Given the description of an element on the screen output the (x, y) to click on. 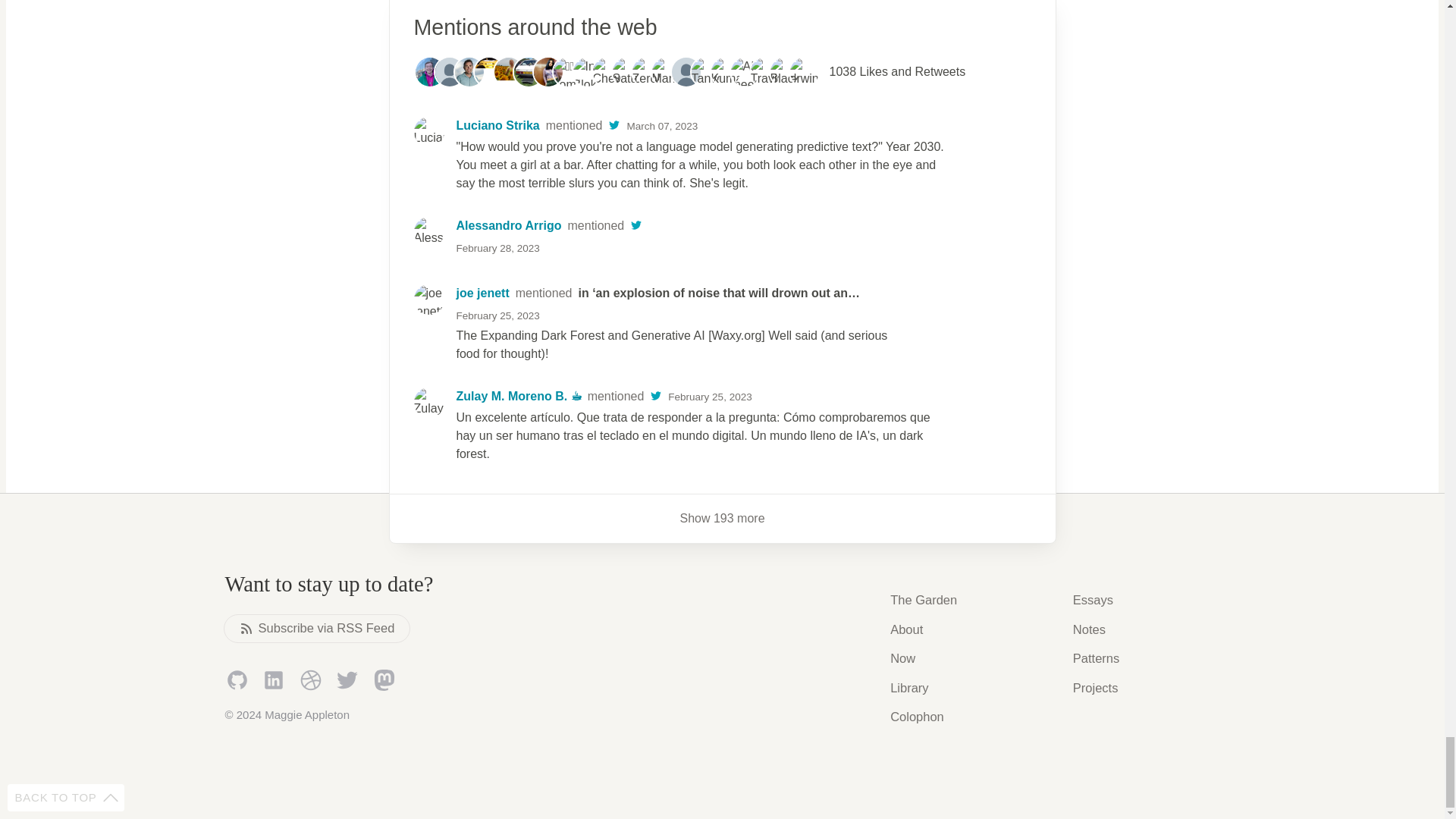
Library (908, 688)
Notes (1089, 629)
Show 193 more (722, 517)
Essays (1093, 599)
The Garden (922, 599)
About (906, 629)
Link to Maggie's Twitter (346, 680)
Subscribe via RSS Feed (317, 628)
Patterns (703, 126)
